Given the description of an element on the screen output the (x, y) to click on. 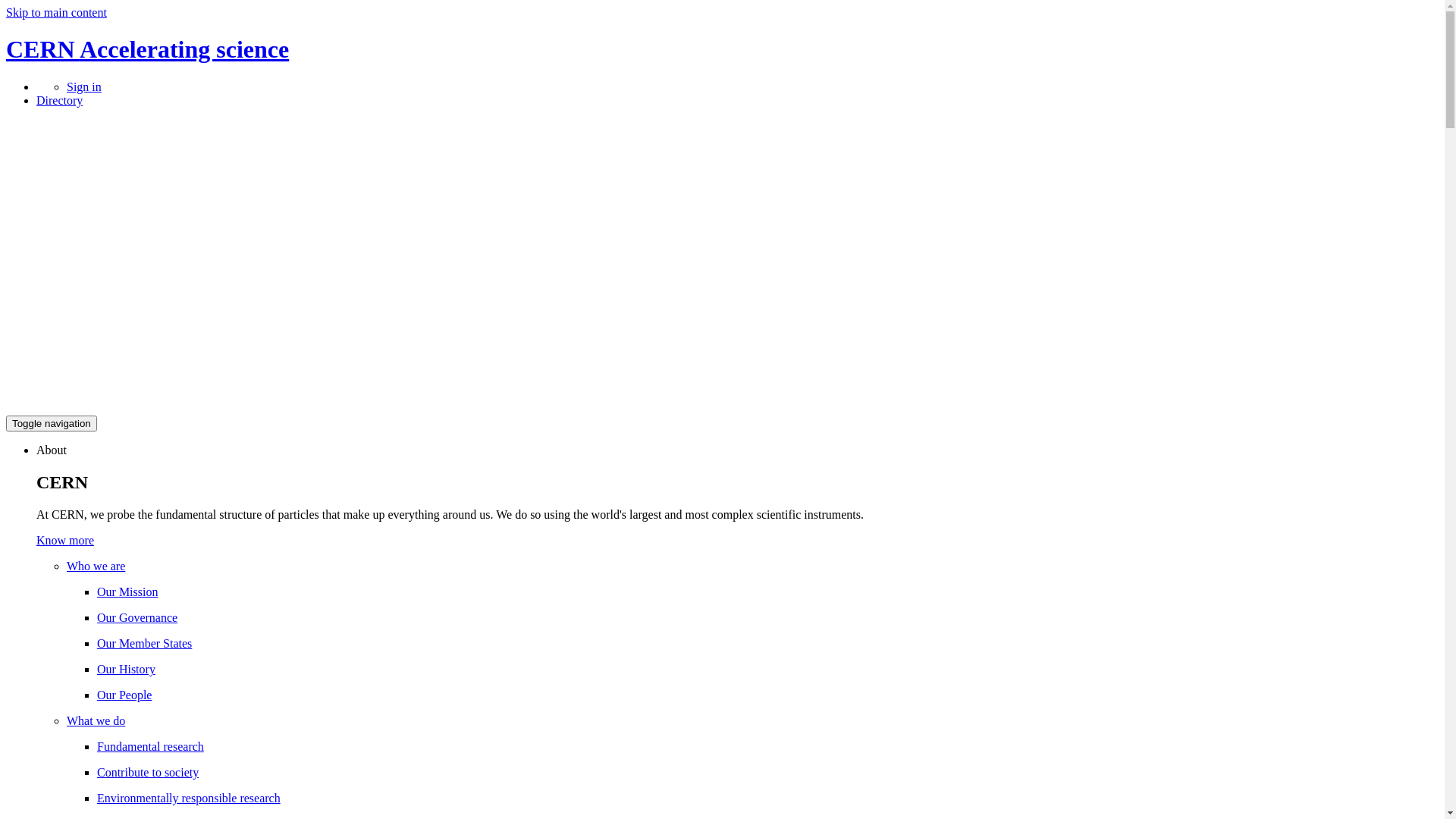
Fundamental research Element type: text (150, 746)
Who we are Element type: text (95, 565)
Our Governance Element type: text (137, 617)
CERN Accelerating science Element type: text (147, 48)
Our People Element type: text (124, 694)
What we do Element type: text (95, 720)
Directory Element type: text (59, 100)
Know more Element type: text (65, 539)
Environmentally responsible research Element type: text (188, 797)
Sign in Element type: text (83, 86)
Home Element type: hover (154, 407)
Toggle navigation Element type: text (51, 423)
Contribute to society Element type: text (147, 771)
About Element type: text (51, 449)
Skip to main content Element type: text (56, 12)
Our Mission Element type: text (127, 591)
Our History Element type: text (126, 668)
Our Member States Element type: text (144, 643)
